Given the description of an element on the screen output the (x, y) to click on. 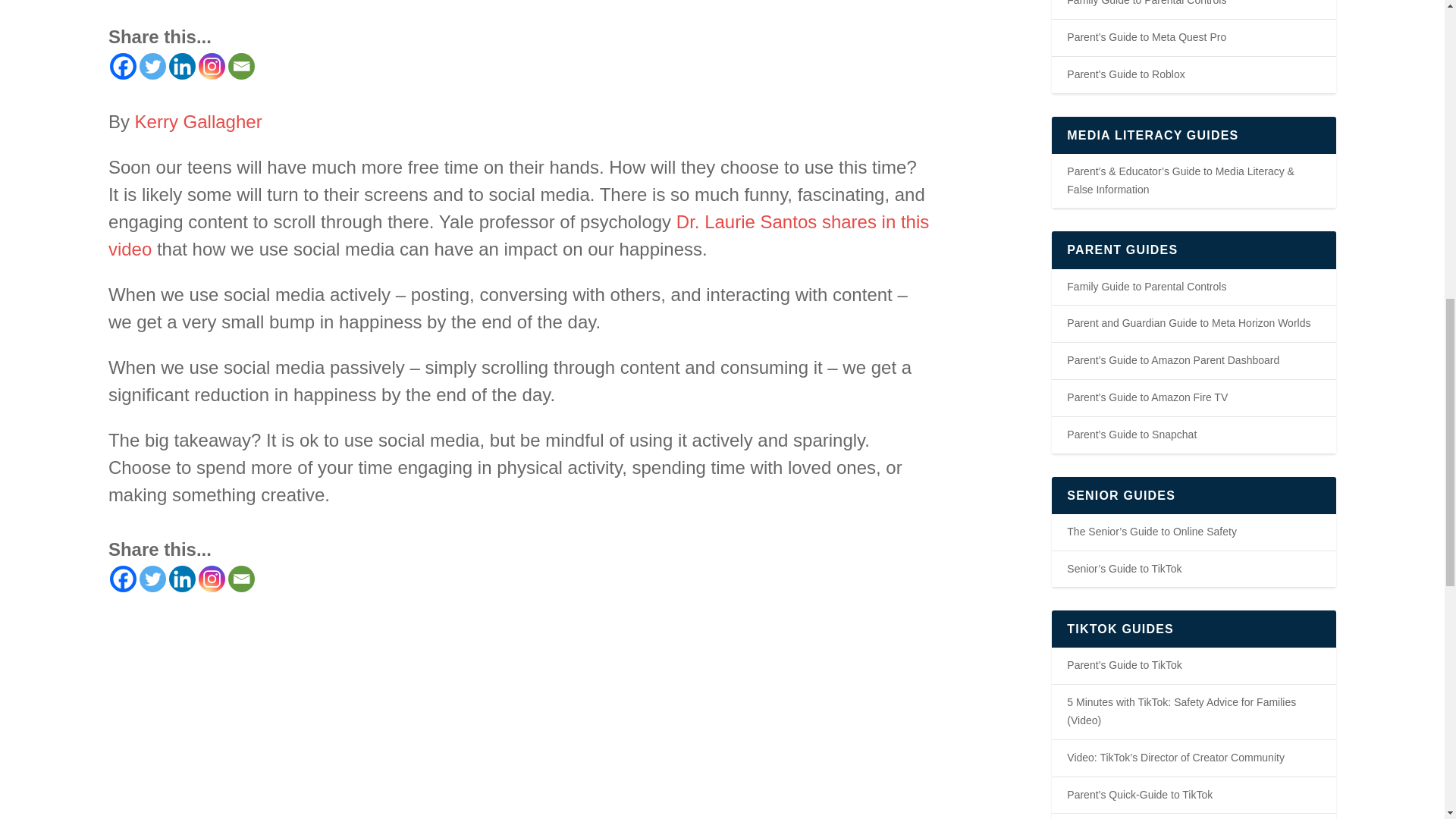
Email (241, 66)
Instagram (211, 66)
Facebook (123, 578)
Linkedin (181, 66)
Twitter (152, 66)
Facebook (123, 66)
